Given the description of an element on the screen output the (x, y) to click on. 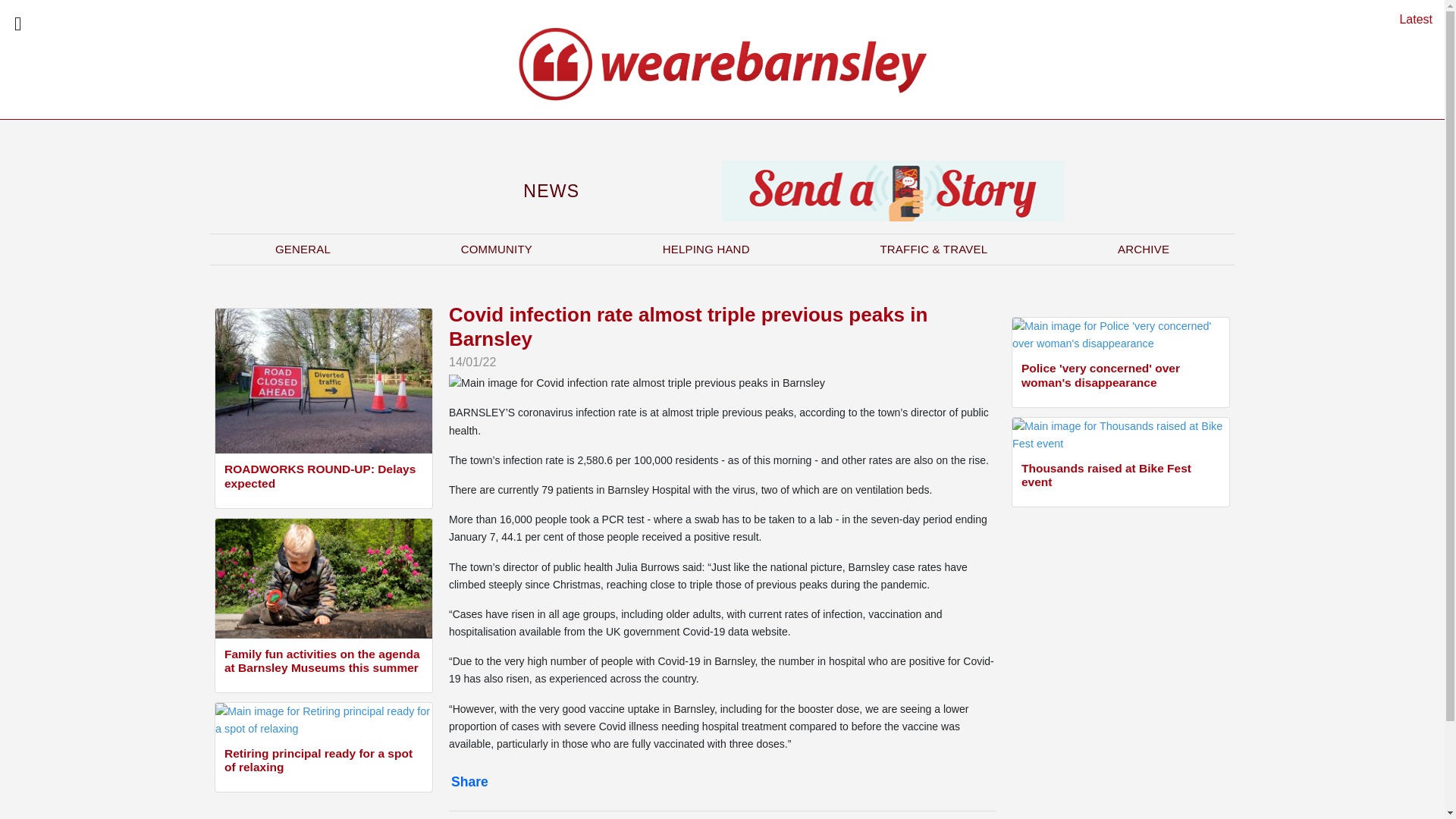
ROADWORKS ROUND-UP: Delays expected (323, 477)
Latest (1415, 19)
ARCHIVE (1143, 249)
COMMUNITY (496, 249)
HELPING HAND (705, 249)
Retiring principal ready for a spot of relaxing (323, 762)
Police 'very concerned' over woman's disappearance (1121, 377)
GENERAL (302, 249)
